Given the description of an element on the screen output the (x, y) to click on. 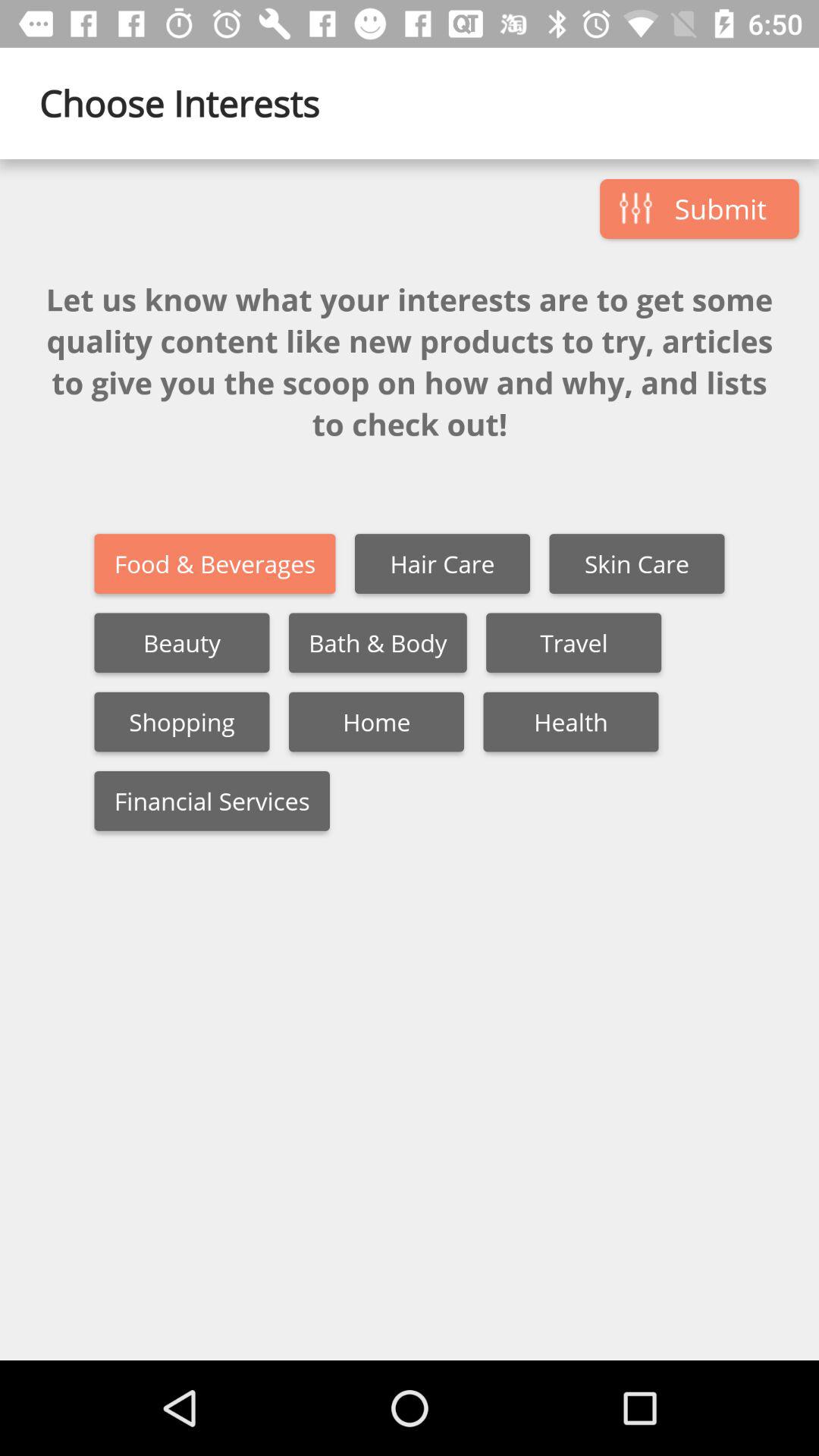
press shopping item (181, 721)
